Given the description of an element on the screen output the (x, y) to click on. 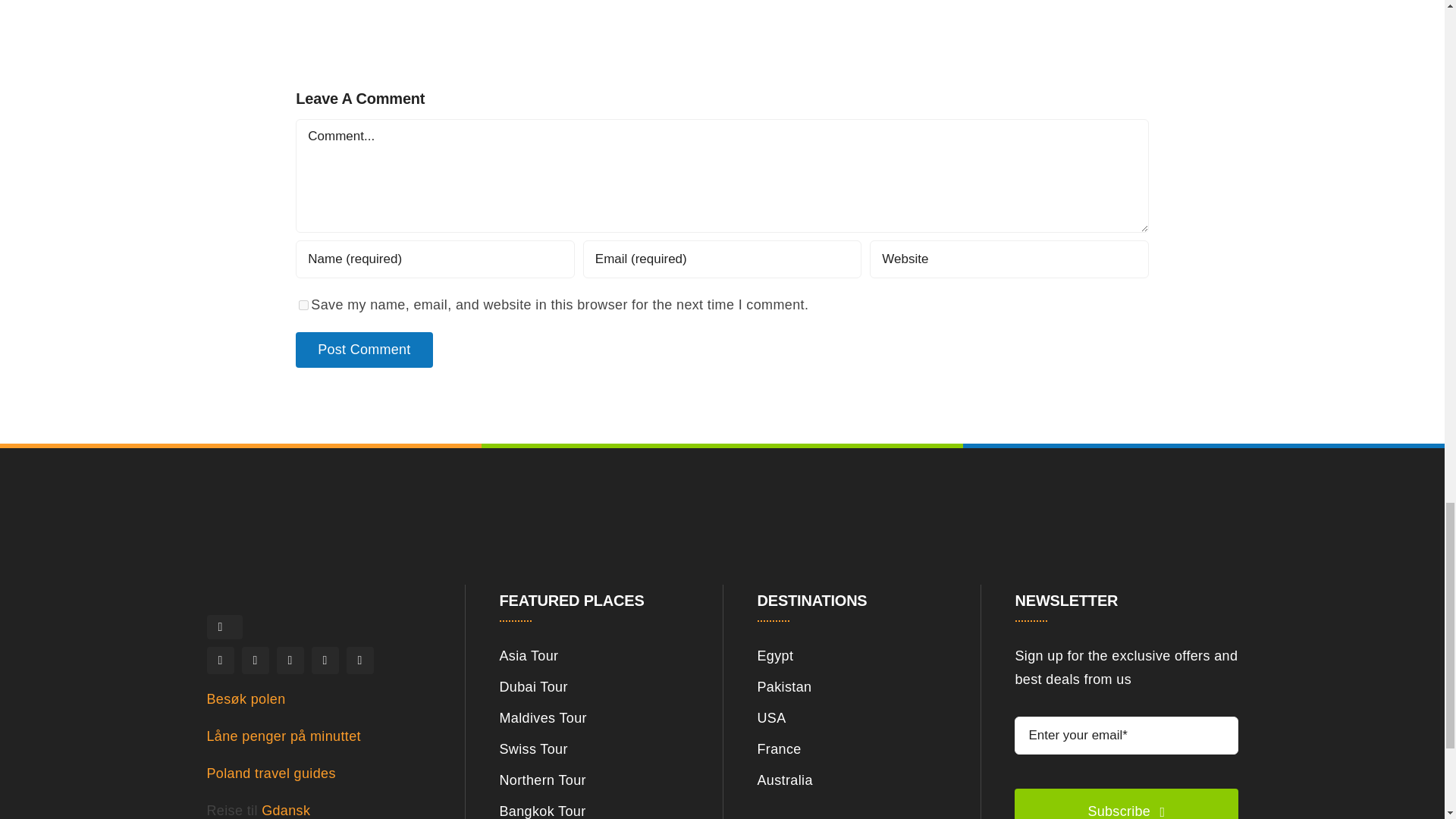
Subscribe (1125, 762)
Vimeo (359, 660)
Post Comment (363, 350)
Pinterest (324, 660)
Post Comment (363, 350)
Instagram (289, 660)
Twitter (254, 660)
yes (303, 305)
Facebook (219, 660)
